Given the description of an element on the screen output the (x, y) to click on. 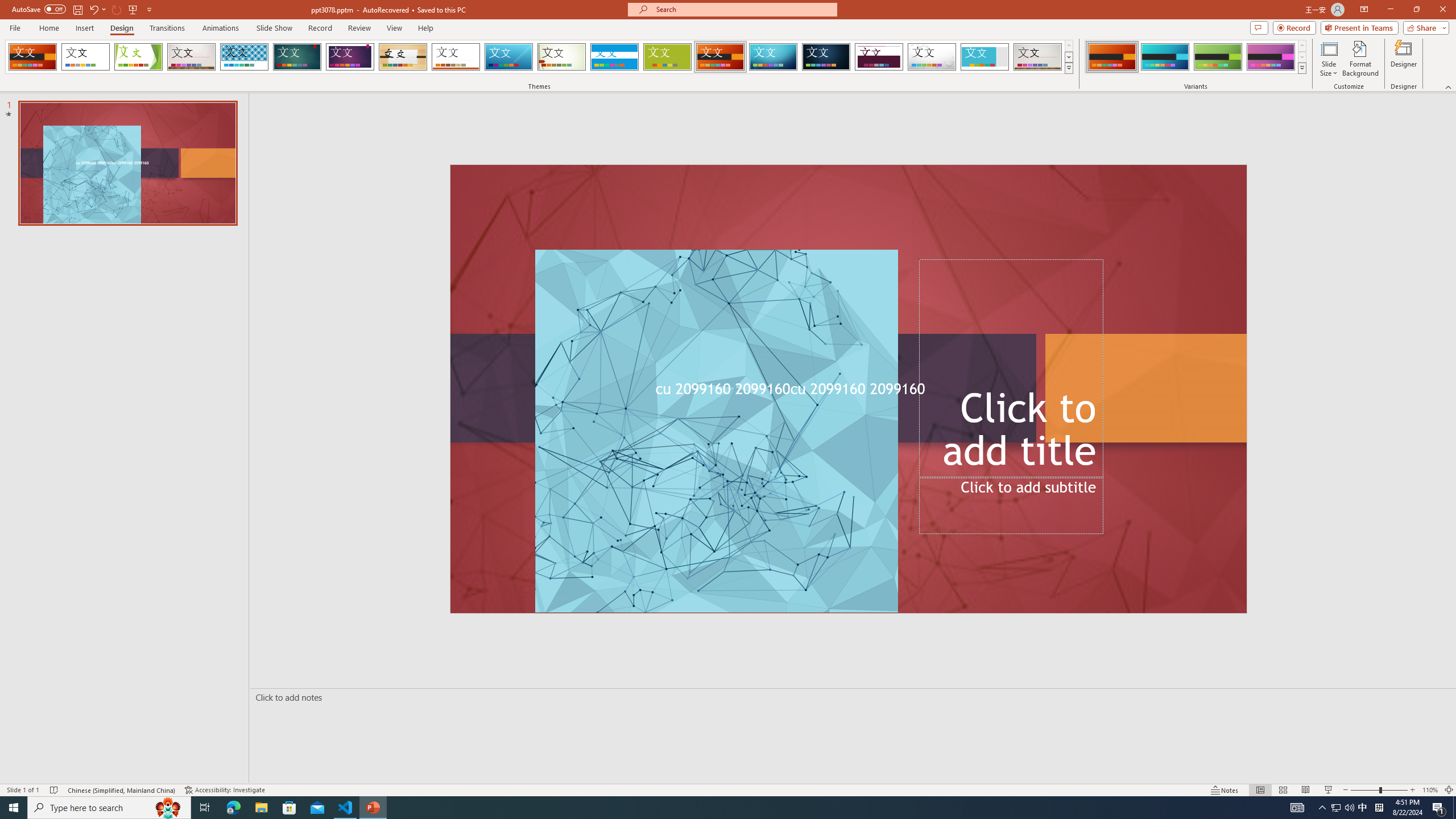
Berlin Variant 1 (1112, 56)
Banded (614, 56)
